Given the description of an element on the screen output the (x, y) to click on. 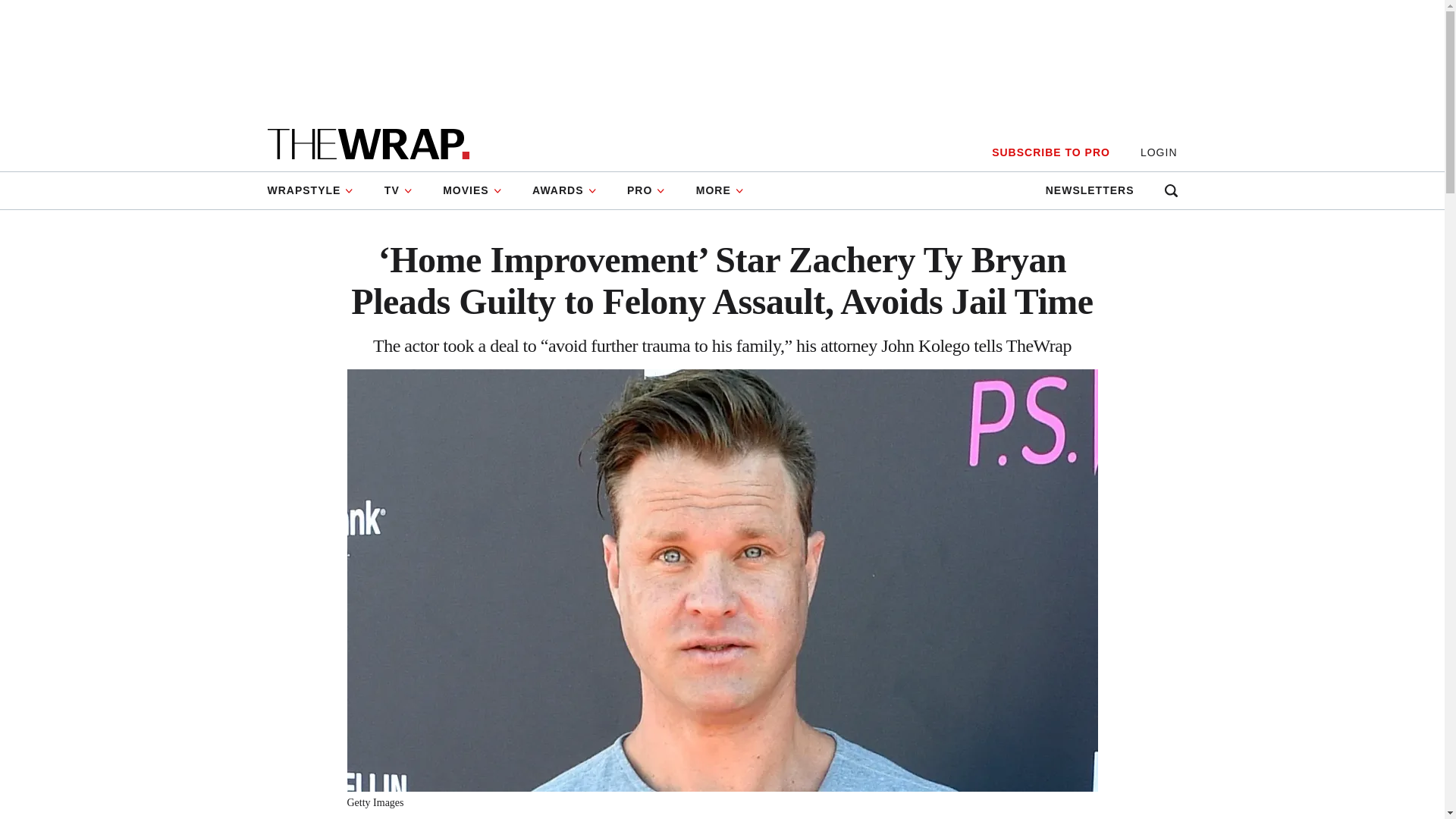
TV (398, 190)
MOVIES (472, 190)
AWARDS (563, 190)
SUBSCRIBE TO PRO (1050, 152)
LOGIN (1158, 152)
PRO (646, 190)
WRAPSTYLE (317, 190)
MORE (719, 190)
